Given the description of an element on the screen output the (x, y) to click on. 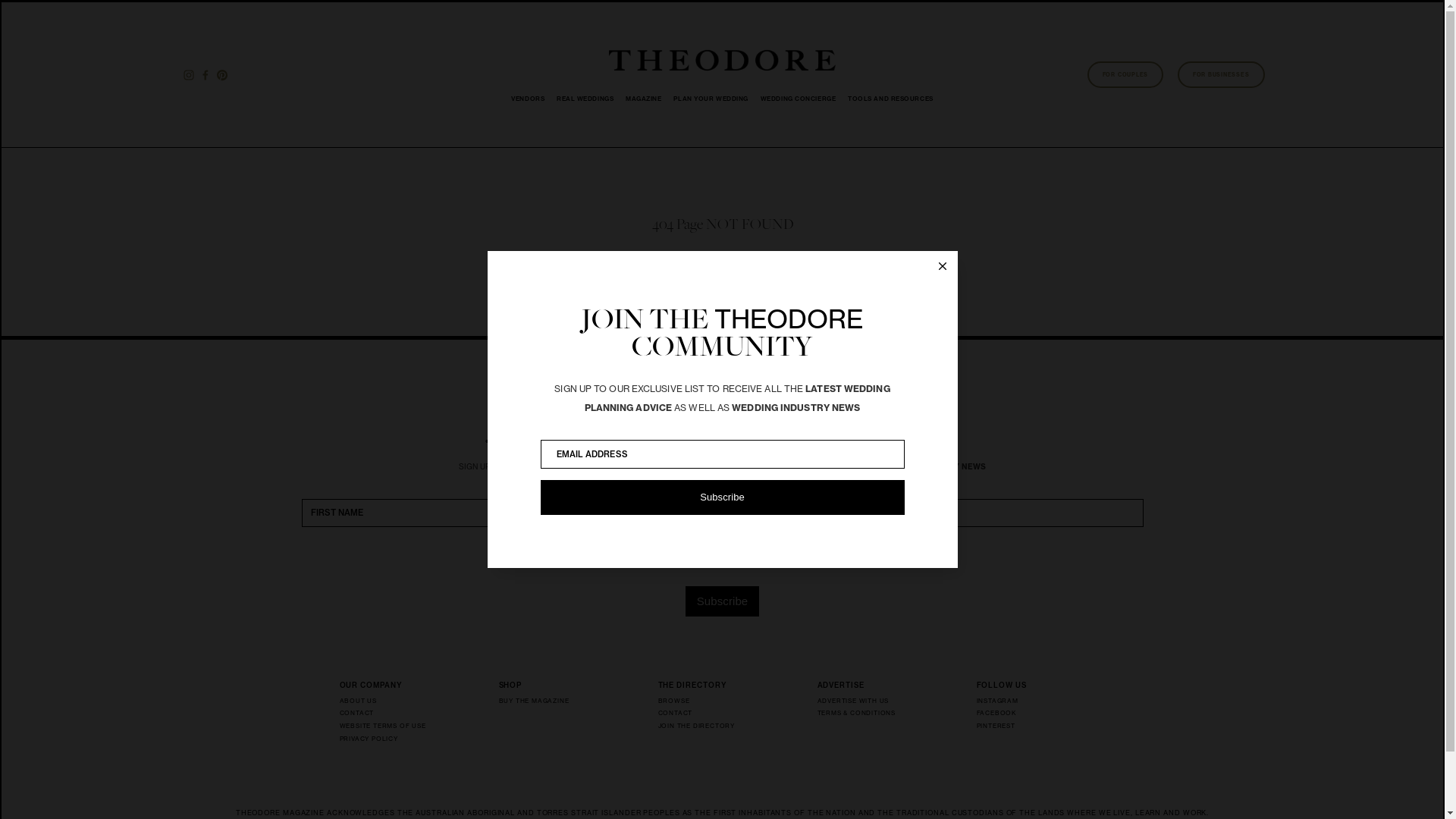
TOOLS AND RESOURCES Element type: text (890, 98)
FOR COUPLES Element type: text (1125, 74)
Subscribe Element type: text (721, 497)
JOIN THE DIRECTORY Element type: text (706, 727)
ABOUT US Element type: text (387, 702)
PLAN YOUR WEDDING Element type: text (710, 98)
MAGAZINE Element type: text (643, 98)
INSTAGRAM Element type: text (1024, 702)
FOR BUSINESSES Element type: text (1220, 74)
CONTACT Element type: text (387, 714)
REAL WEDDINGS Element type: text (584, 98)
PRIVACY POLICY Element type: text (387, 740)
WEBSITE TERMS OF USE Element type: text (387, 727)
BUY THE MAGAZINE Element type: text (547, 702)
WEDDING CONCIERGE Element type: text (798, 98)
CONTACT Element type: text (706, 714)
PINTEREST Element type: text (1024, 727)
BROWSE Element type: text (706, 702)
TERMS & CONDITIONS Element type: text (865, 714)
ADVERTISE WITH US Element type: text (865, 702)
Subscribe Element type: text (722, 600)
FACEBOOK Element type: text (1024, 714)
VENDORS Element type: text (527, 98)
